Given the description of an element on the screen output the (x, y) to click on. 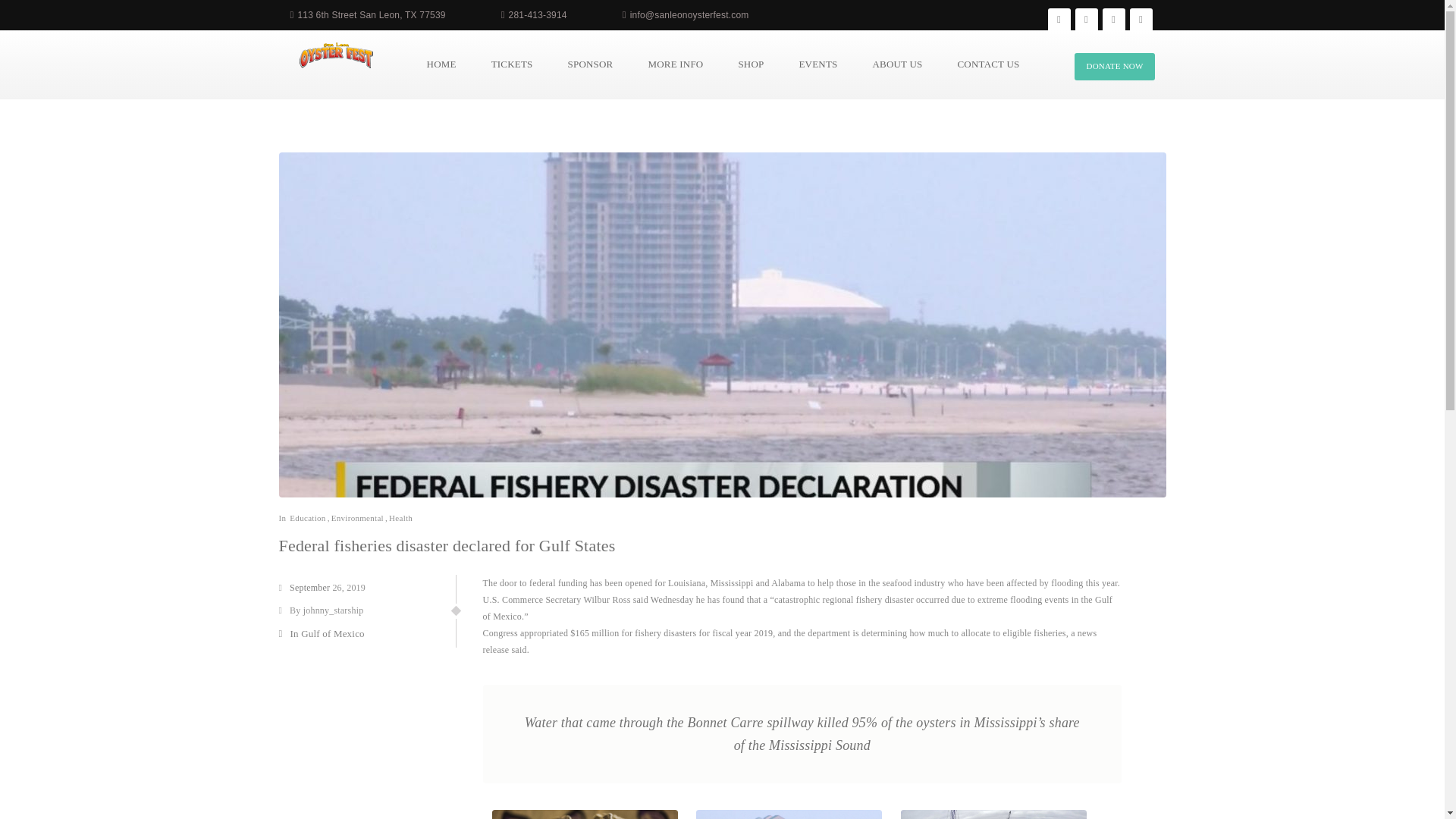
More Info (674, 64)
HOME (441, 64)
281-413-3914 (537, 14)
SPONSOR (590, 64)
SHOP (750, 64)
ABOUT US (897, 64)
Tickets (512, 64)
DONATE NOW (1114, 66)
MORE INFO (674, 64)
Shop (750, 64)
EVENTS (817, 64)
CONTACT US (987, 64)
Sponsor (590, 64)
HOME (441, 64)
TICKETS (512, 64)
